Given the description of an element on the screen output the (x, y) to click on. 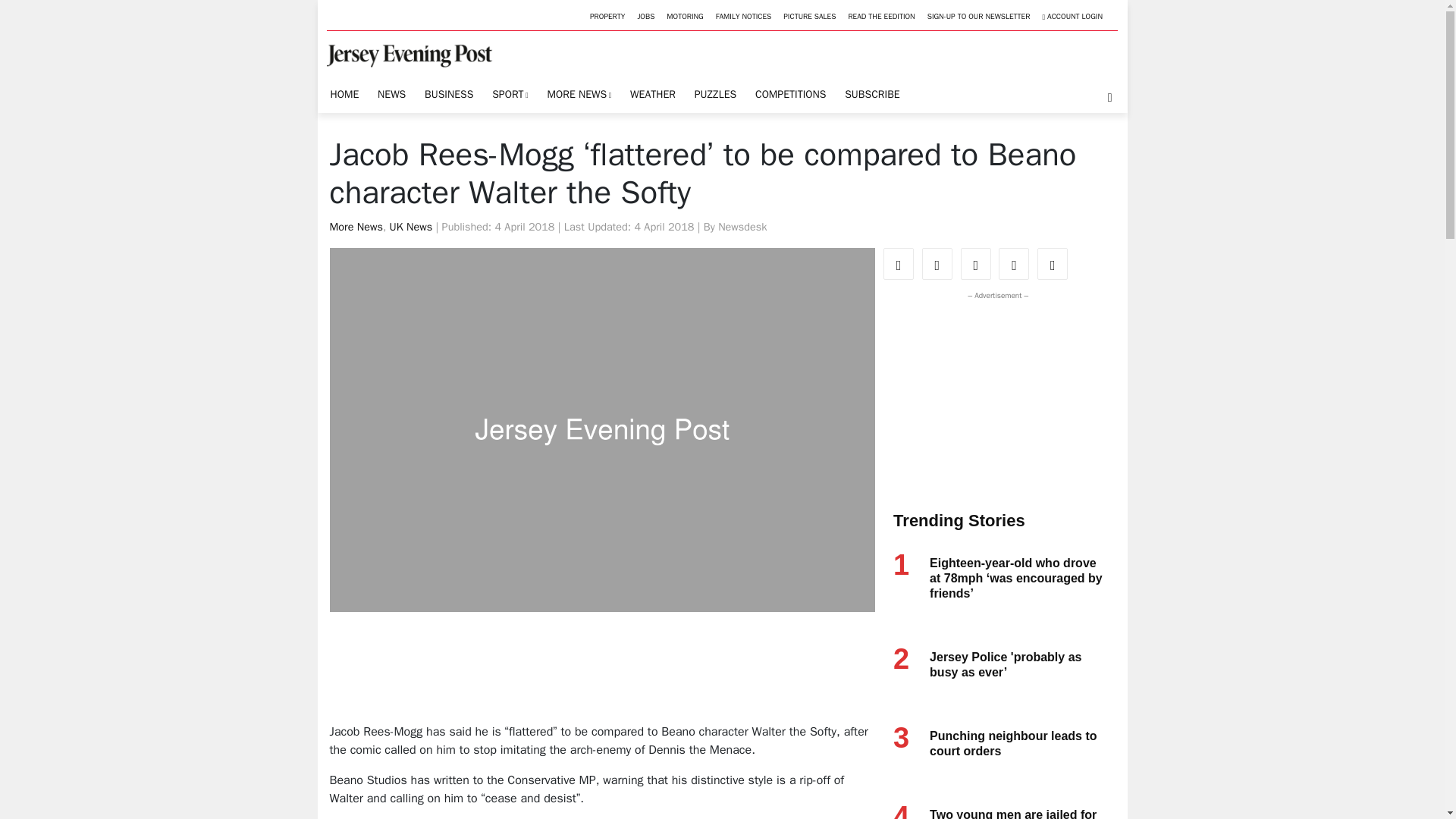
MORE NEWS (579, 94)
NEWS (391, 94)
BUSINESS (448, 94)
PUZZLES (714, 94)
3rd party ad content (994, 398)
SUBSCRIBE (871, 94)
JOBS (645, 16)
3rd party ad content (604, 673)
SPORT (509, 94)
FAMILY NOTICES (743, 16)
